Given the description of an element on the screen output the (x, y) to click on. 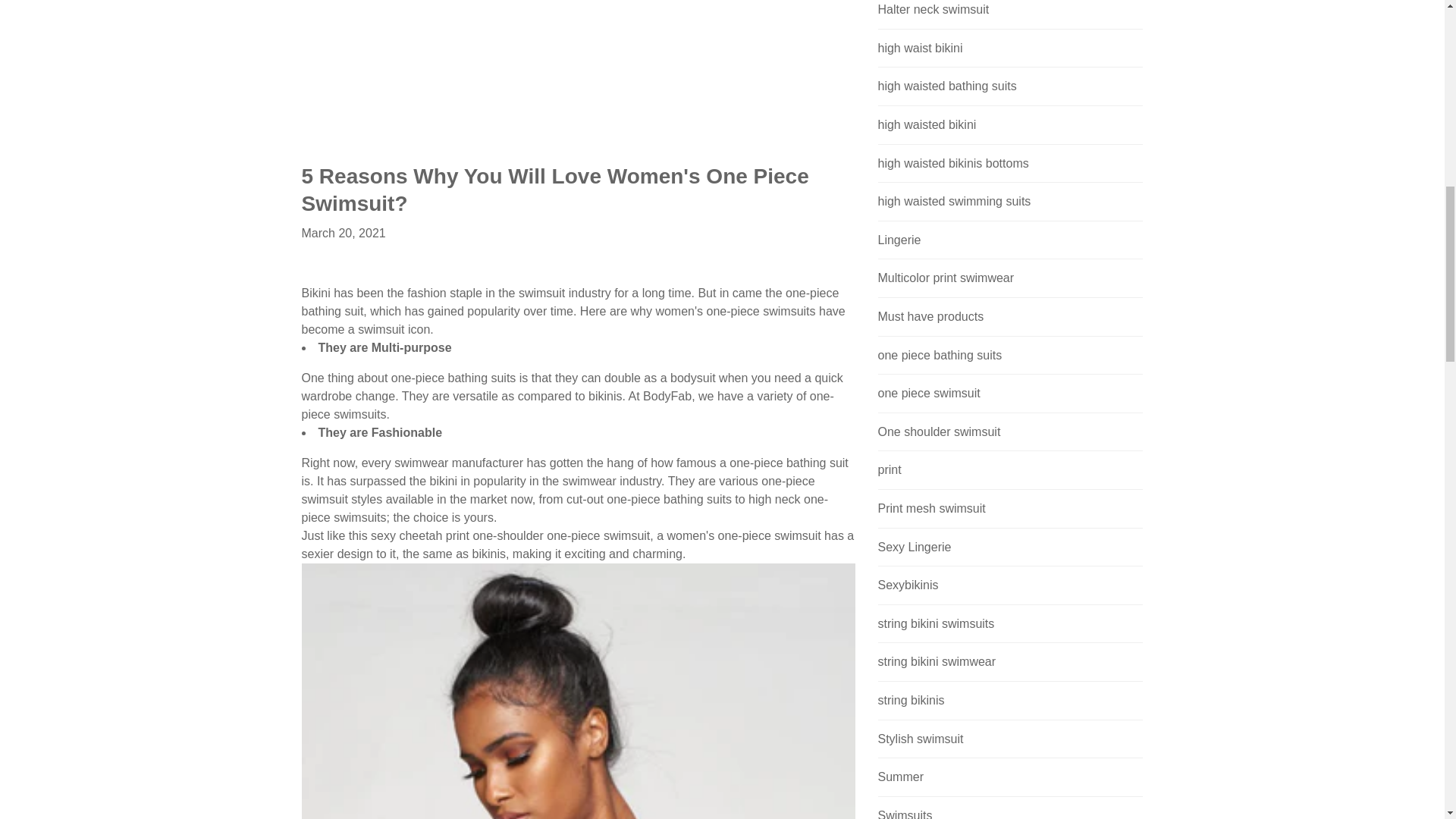
affordable one piece swimwear (667, 395)
one piece bathing suit (510, 535)
swimwear manufacturer (461, 462)
